Given the description of an element on the screen output the (x, y) to click on. 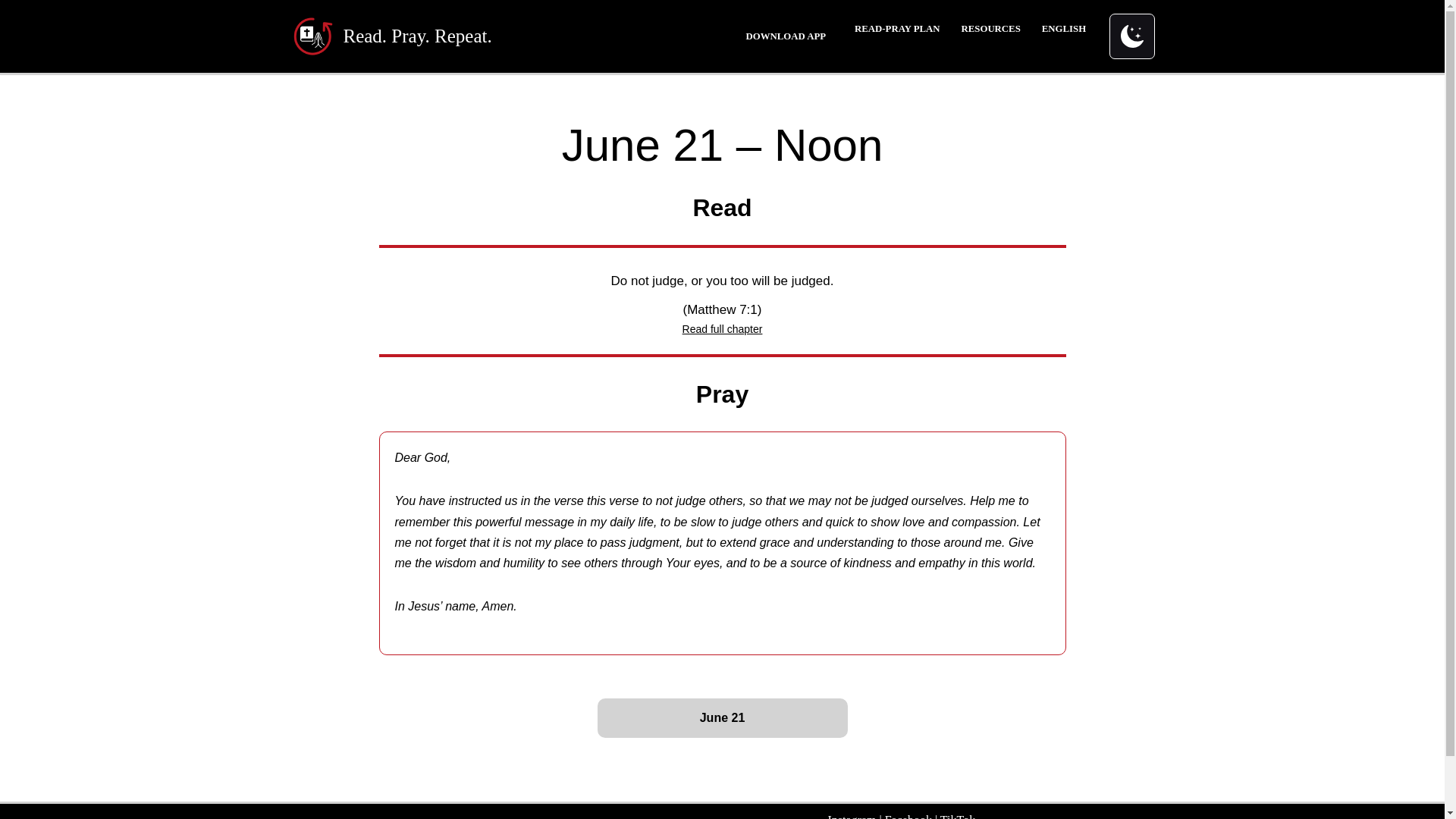
RESOURCES (990, 28)
Read full chapter (1066, 28)
June 21 (722, 328)
DOWNLOAD APP (721, 717)
Read. Pray. Repeat. (786, 36)
READ-PRAY PLAN (390, 35)
Skip to content (896, 28)
